Given the description of an element on the screen output the (x, y) to click on. 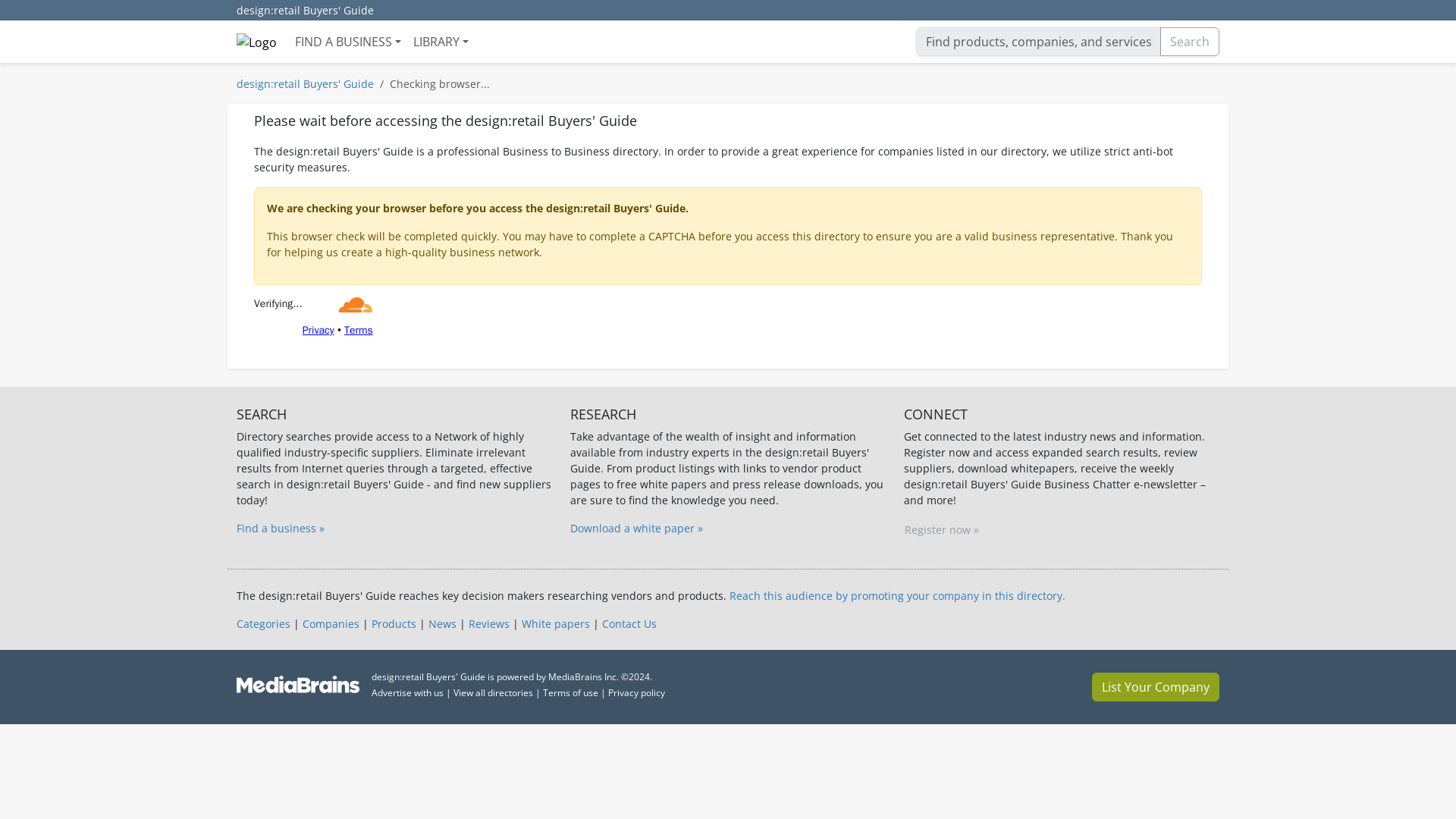
News (442, 623)
Search (1190, 41)
Contact Us (629, 623)
Products (393, 623)
Categories (262, 623)
White papers (555, 623)
View all directories (492, 692)
Advertise with us (407, 692)
Privacy policy (636, 692)
List Your Company (1156, 686)
design:retail Buyers' Guide (304, 83)
LIBRARY (440, 41)
FIND A BUSINESS (347, 41)
Companies (330, 623)
